Given the description of an element on the screen output the (x, y) to click on. 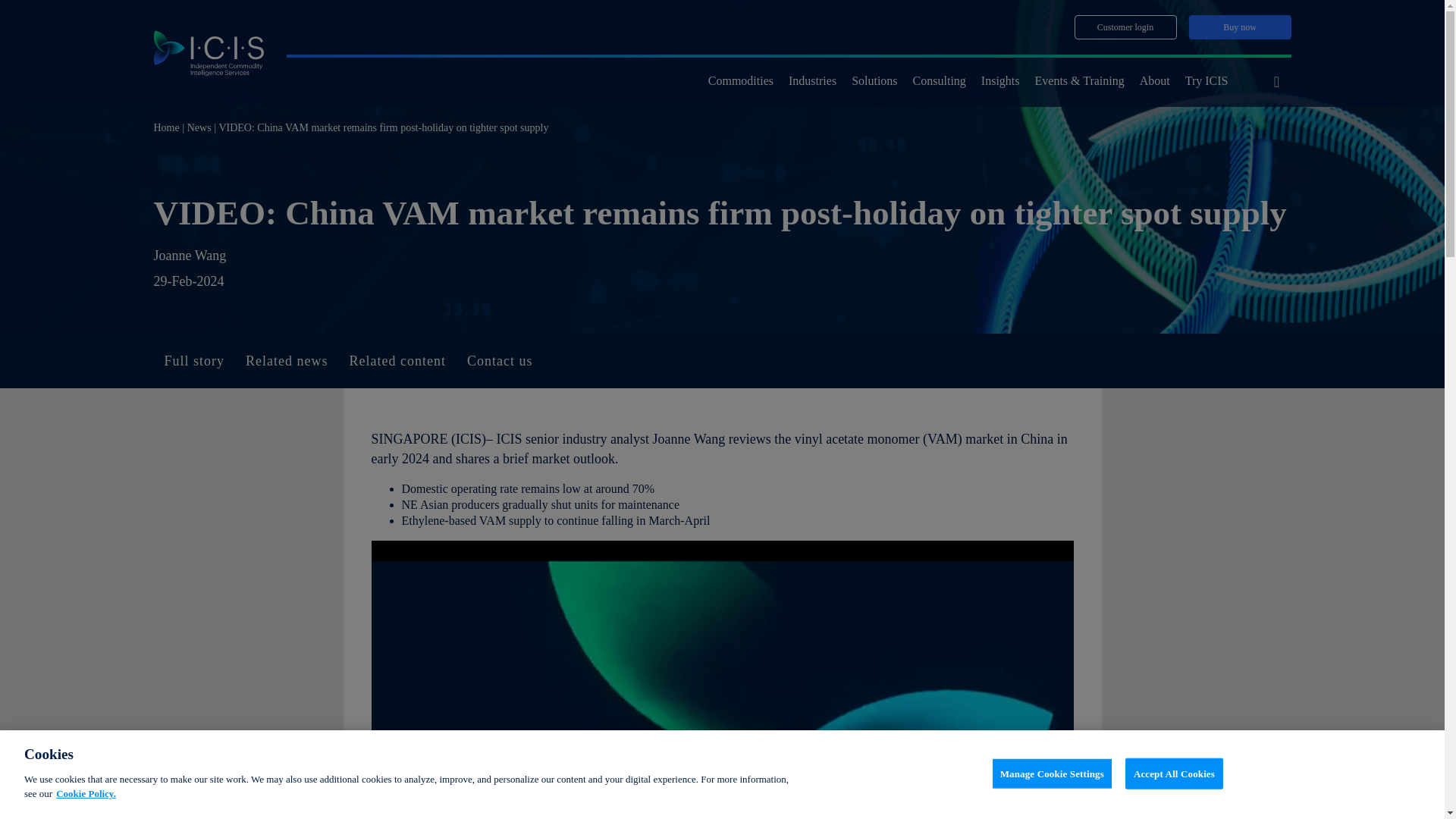
Buy now (1240, 27)
Industries (812, 82)
Commodities (740, 82)
Buy now (1240, 27)
Consulting (939, 82)
Commodities (740, 82)
Industries (812, 82)
Customer login (1125, 27)
Customer login (1125, 27)
Insights (1000, 82)
Solutions (873, 82)
